Given the description of an element on the screen output the (x, y) to click on. 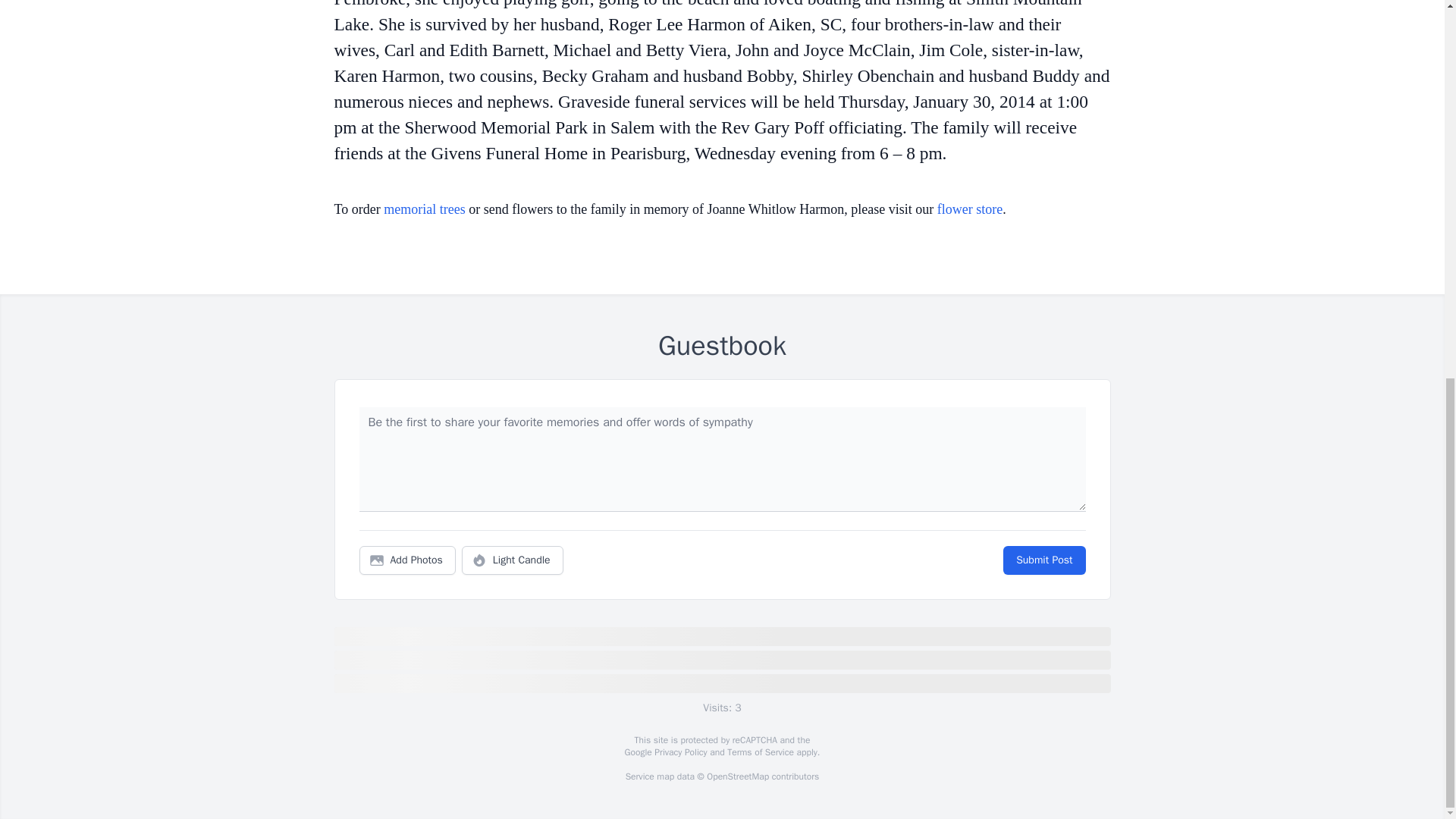
Submit Post (1043, 560)
Add Photos (407, 560)
flower store (970, 209)
Light Candle (512, 560)
OpenStreetMap (737, 776)
Privacy Policy (679, 752)
Terms of Service (759, 752)
memorial trees (424, 209)
